Given the description of an element on the screen output the (x, y) to click on. 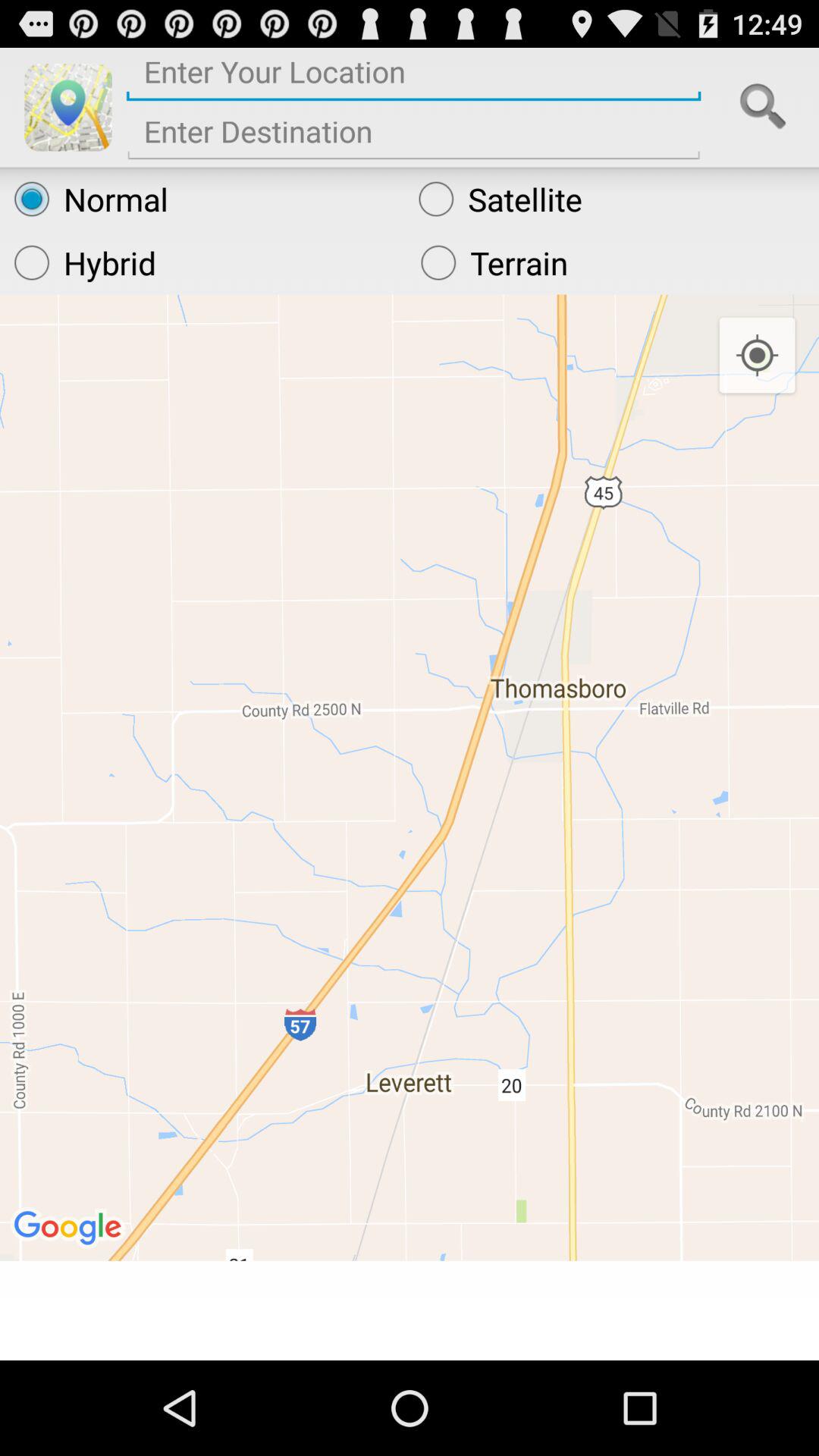
search bar (763, 107)
